Given the description of an element on the screen output the (x, y) to click on. 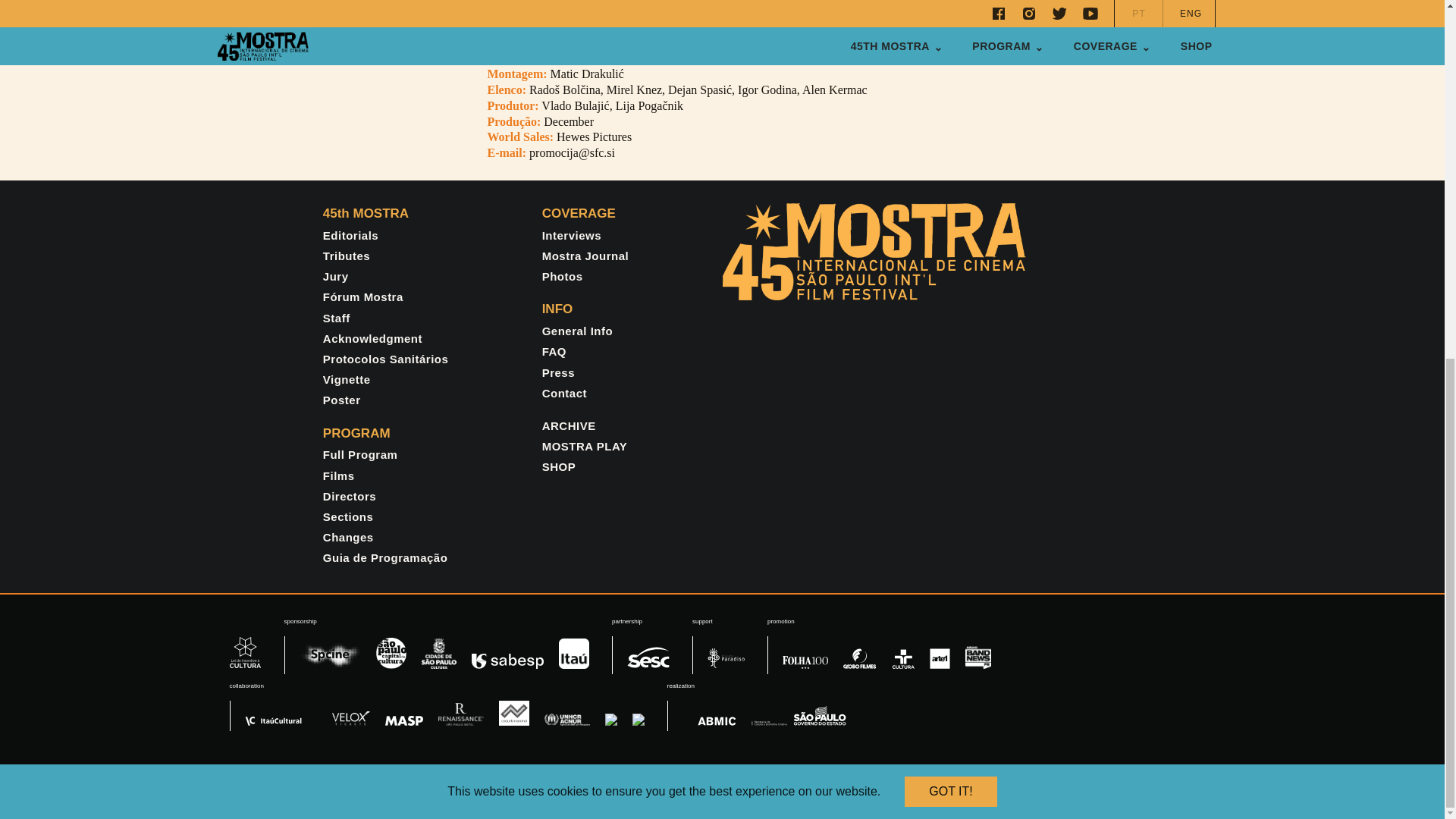
SHOP (558, 466)
General Info (576, 330)
Tributes (346, 255)
Press (558, 372)
GOT IT! (949, 157)
Vignette (347, 379)
FAQ (553, 350)
Photos (562, 276)
MOSTRA PLAY (584, 445)
Staff (336, 318)
